Given the description of an element on the screen output the (x, y) to click on. 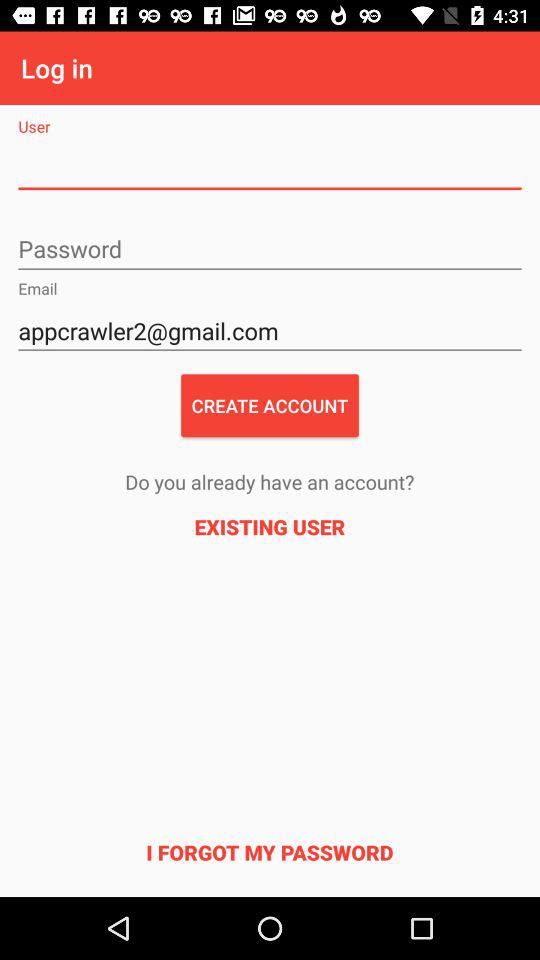
enter the password (269, 250)
